Given the description of an element on the screen output the (x, y) to click on. 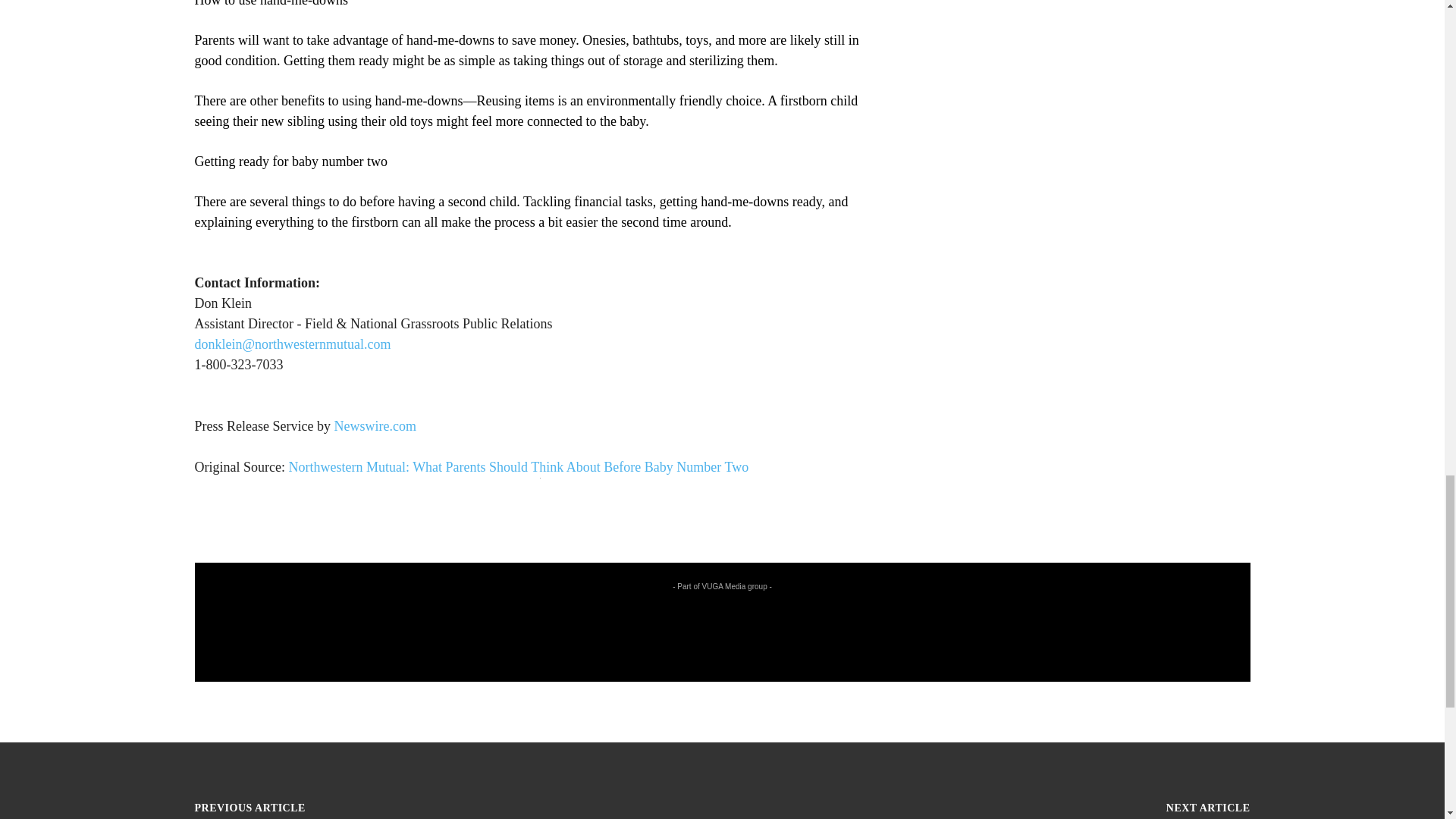
Newswire.com (373, 426)
